Given the description of an element on the screen output the (x, y) to click on. 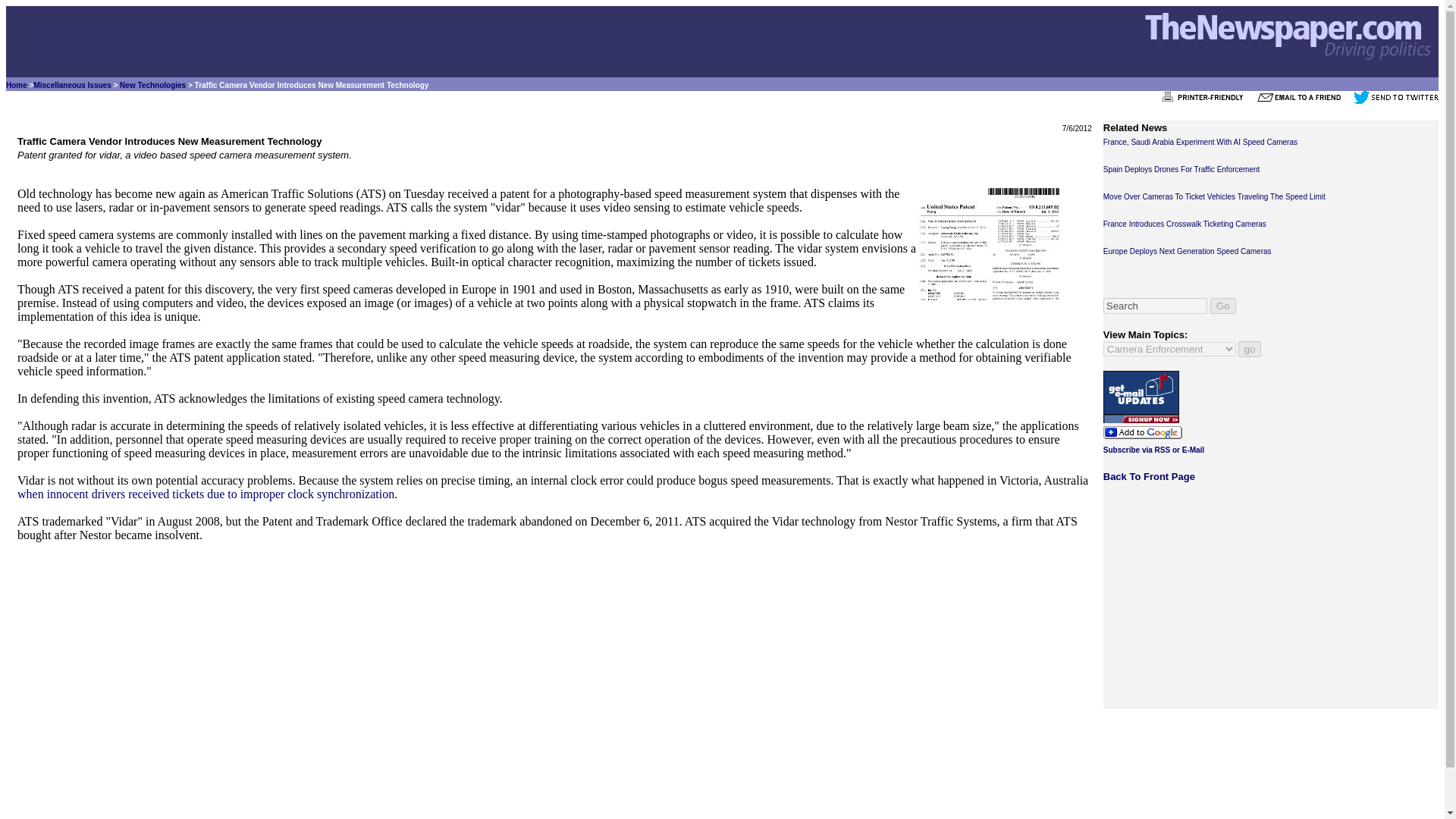
Search (1155, 305)
go (1250, 349)
View Similar Subtopics (152, 85)
go (1250, 349)
Back To Front Page (1149, 476)
Go (1205, 101)
Home (1222, 305)
Subscribe via RSS or E-Mail (16, 85)
View Similar Main Topics (1153, 449)
Spain Deploys Drones For Traffic Enforcement (71, 85)
New Technologies (1181, 169)
Europe Deploys Next Generation Speed Cameras (152, 85)
